Given the description of an element on the screen output the (x, y) to click on. 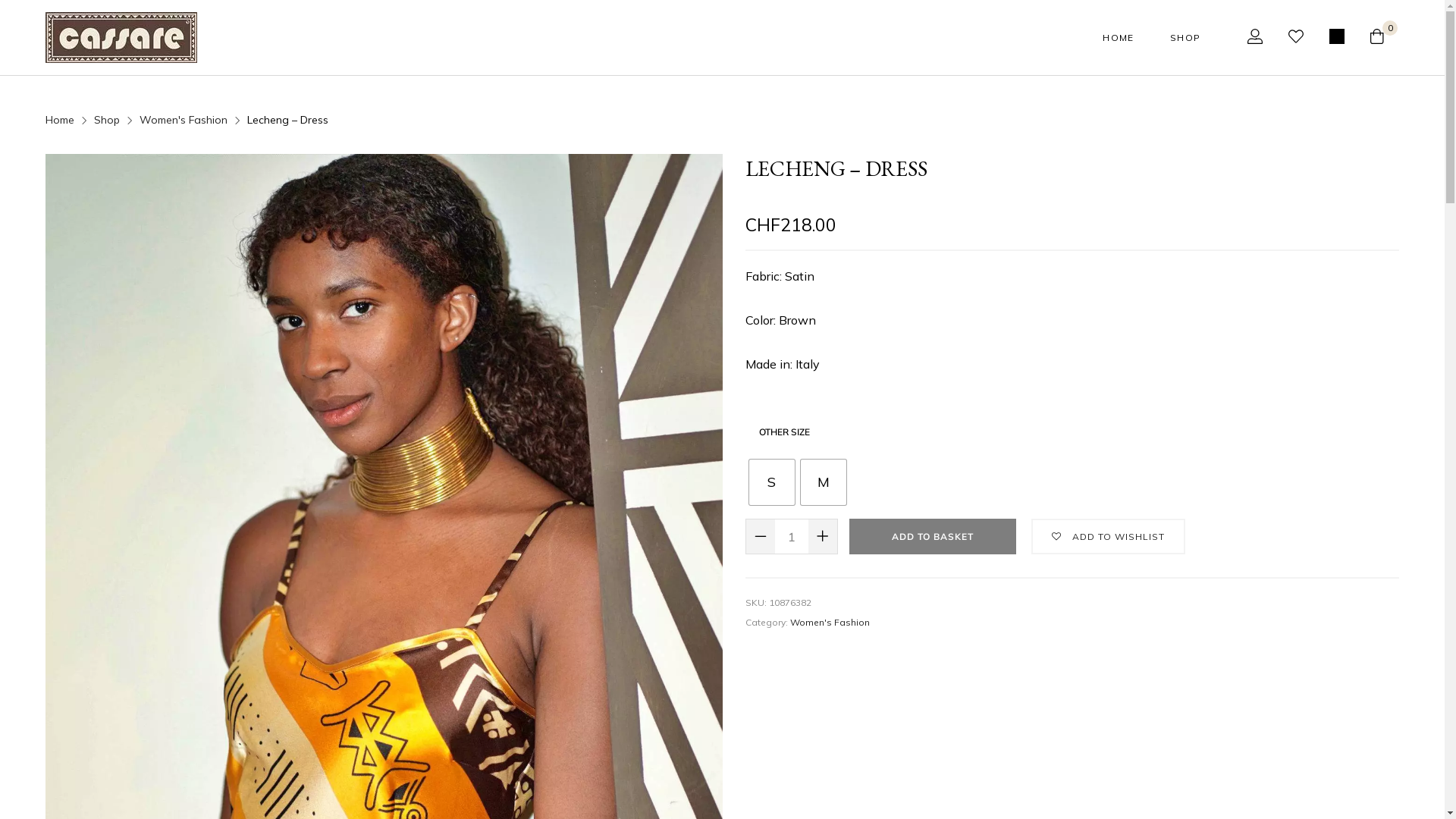
Women's Fashion Element type: text (829, 621)
Women's Fashion Element type: text (183, 119)
Home Element type: text (59, 119)
Cassare Element type: hover (121, 37)
ADD TO BASKET Element type: text (932, 536)
ADD TO WISHLIST Element type: text (1107, 536)
SHOP Element type: text (1185, 36)
HOME Element type: text (1117, 36)
0 Element type: text (1384, 37)
Shop Element type: text (106, 119)
